Given the description of an element on the screen output the (x, y) to click on. 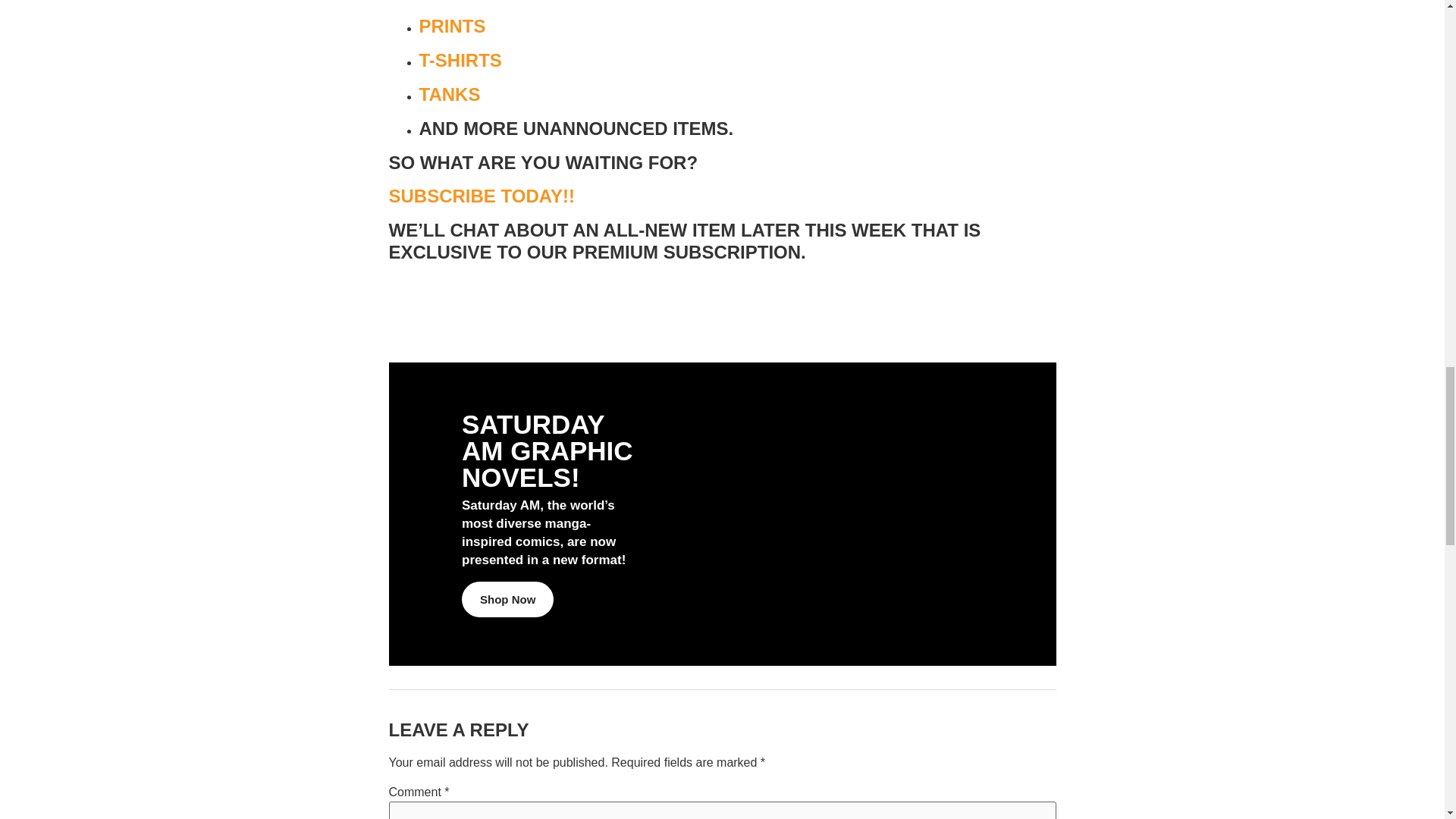
T-SHIRTS (459, 59)
PRINTS (451, 25)
